Given the description of an element on the screen output the (x, y) to click on. 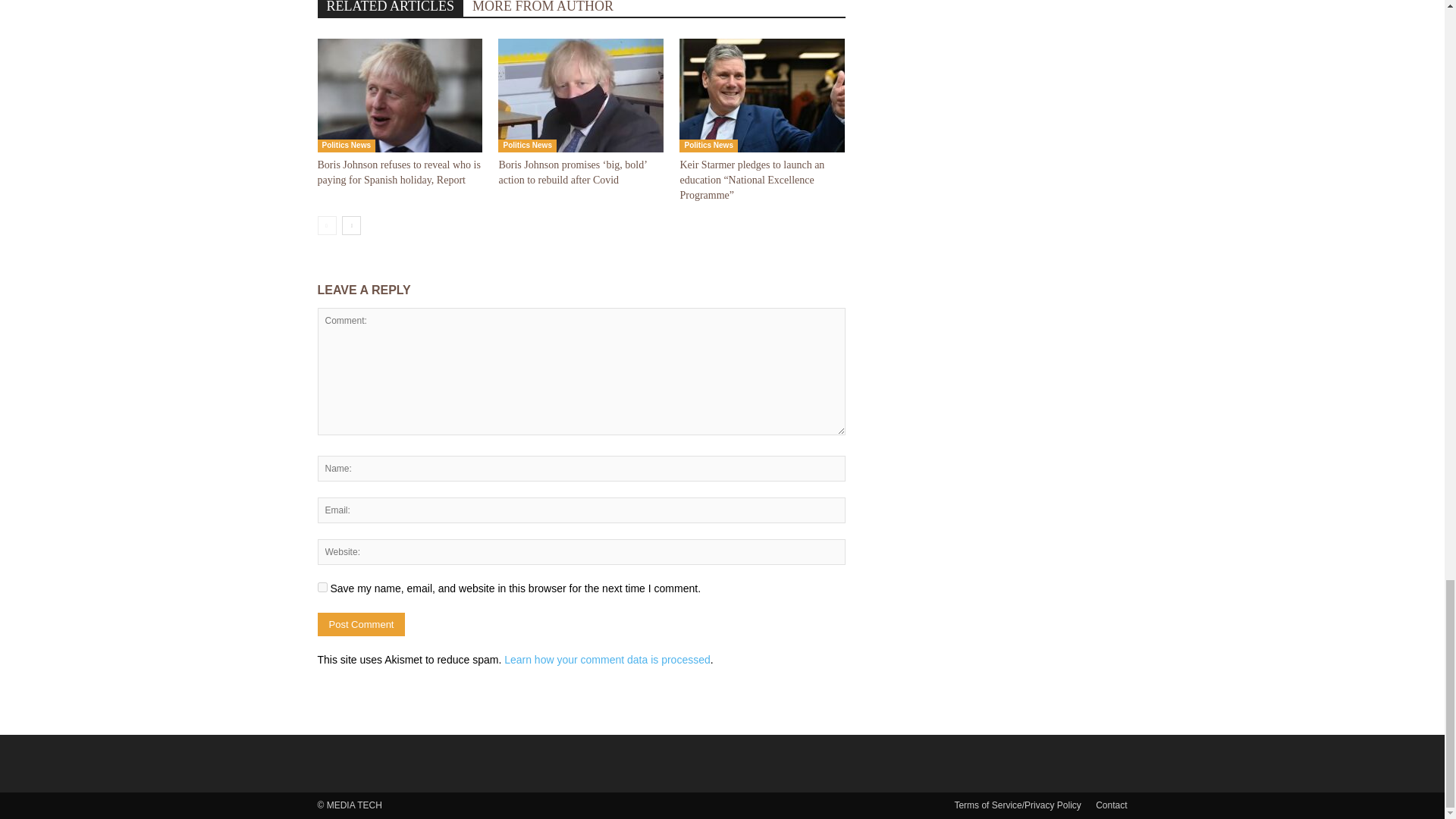
RELATED ARTICLES (390, 8)
yes (321, 587)
Post Comment (360, 624)
